Given the description of an element on the screen output the (x, y) to click on. 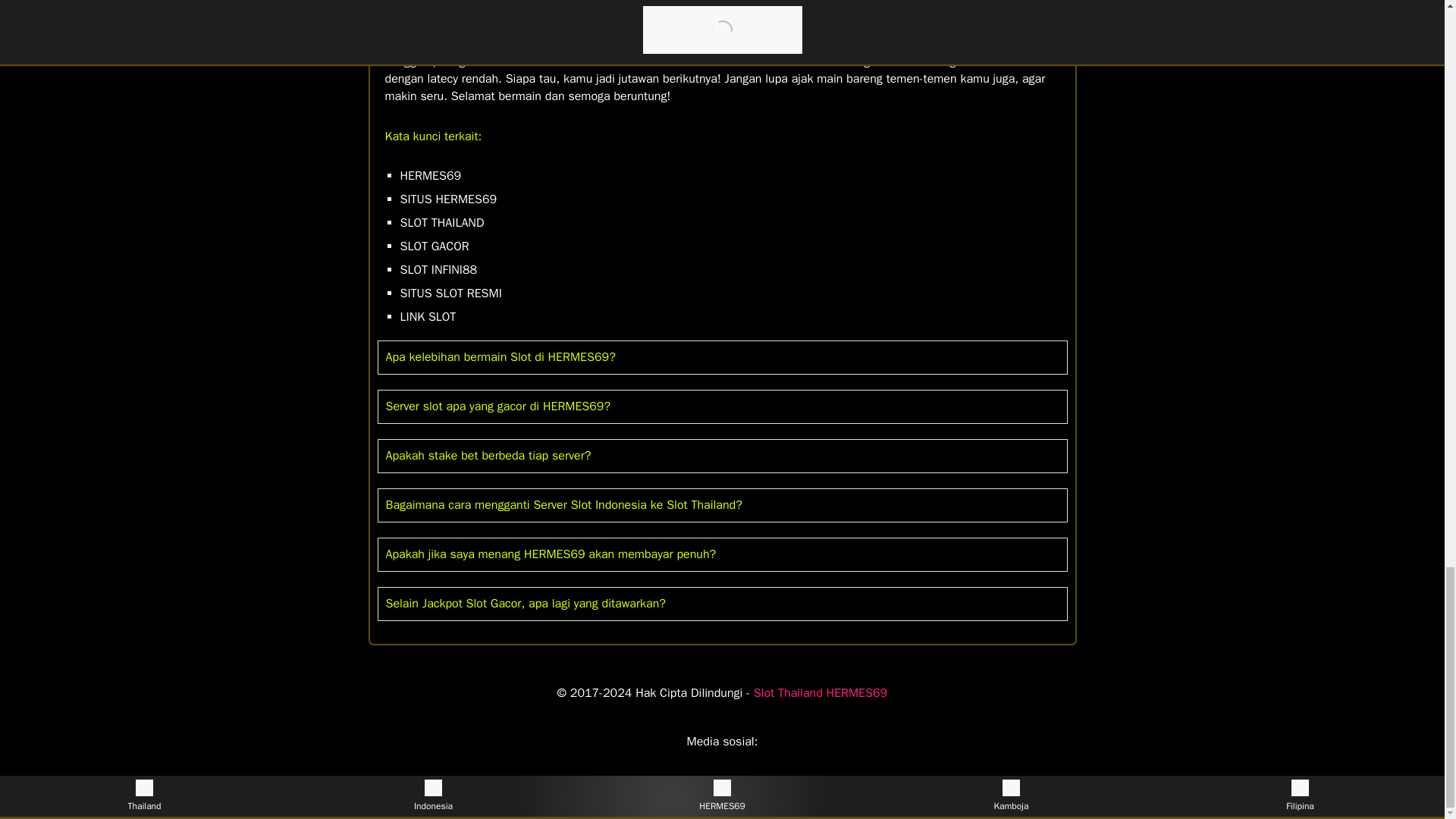
Instagram (692, 761)
Facebook (722, 761)
Tumblr (782, 761)
Slot Thailand HERMES69 (820, 693)
Google Business (751, 761)
Situs Hermes69 (610, 61)
doLink (661, 761)
